Given the description of an element on the screen output the (x, y) to click on. 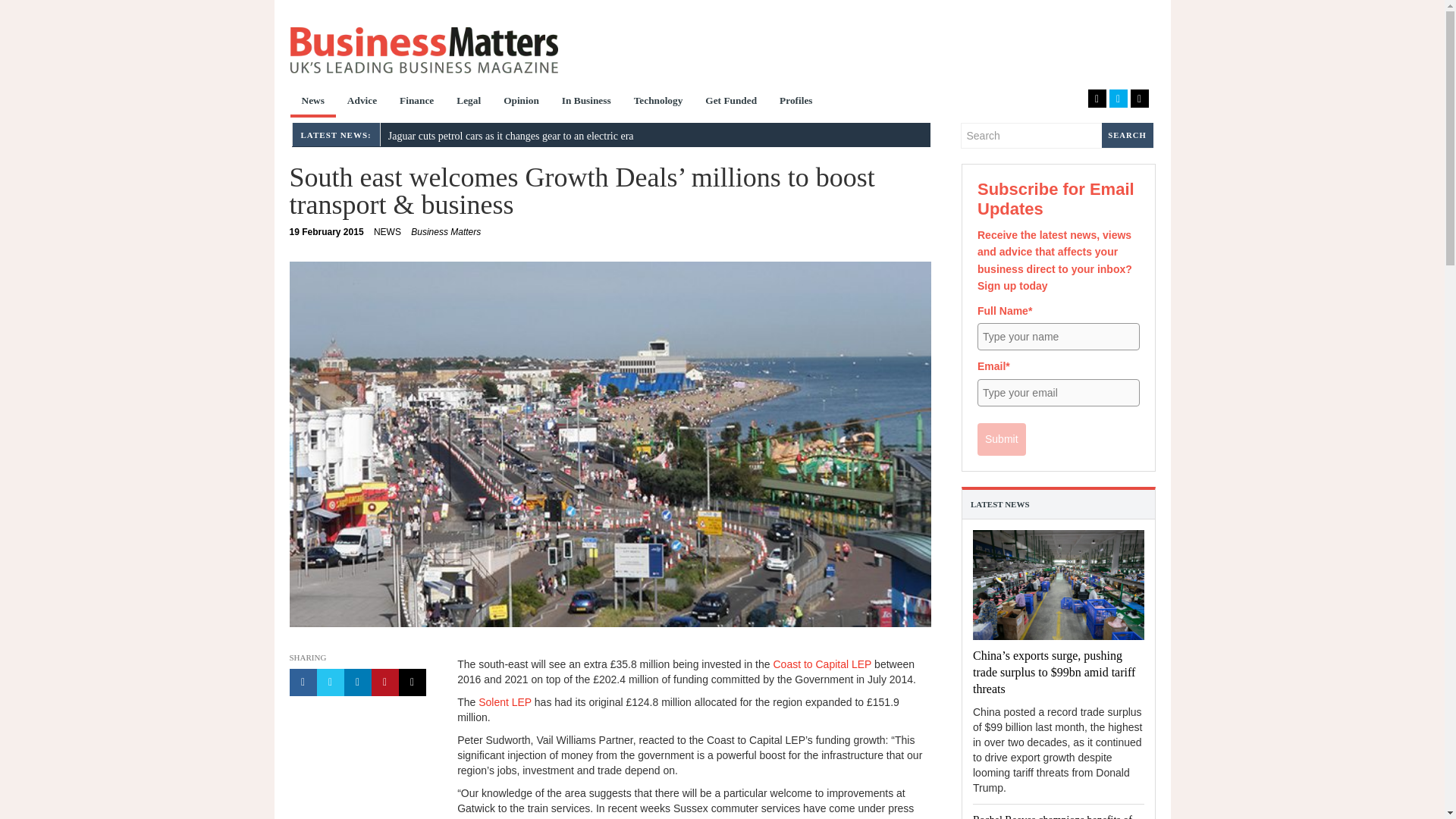
Opinion (521, 101)
Coast to Capital LEP (821, 664)
Business Matters (423, 50)
Get Funded (731, 101)
Technology (658, 101)
Business Matters (445, 231)
Legal (468, 101)
Finance (416, 101)
Profiles (796, 101)
Solent LEP (505, 702)
In Business (586, 101)
NEWS (326, 231)
News (387, 231)
